Given the description of an element on the screen output the (x, y) to click on. 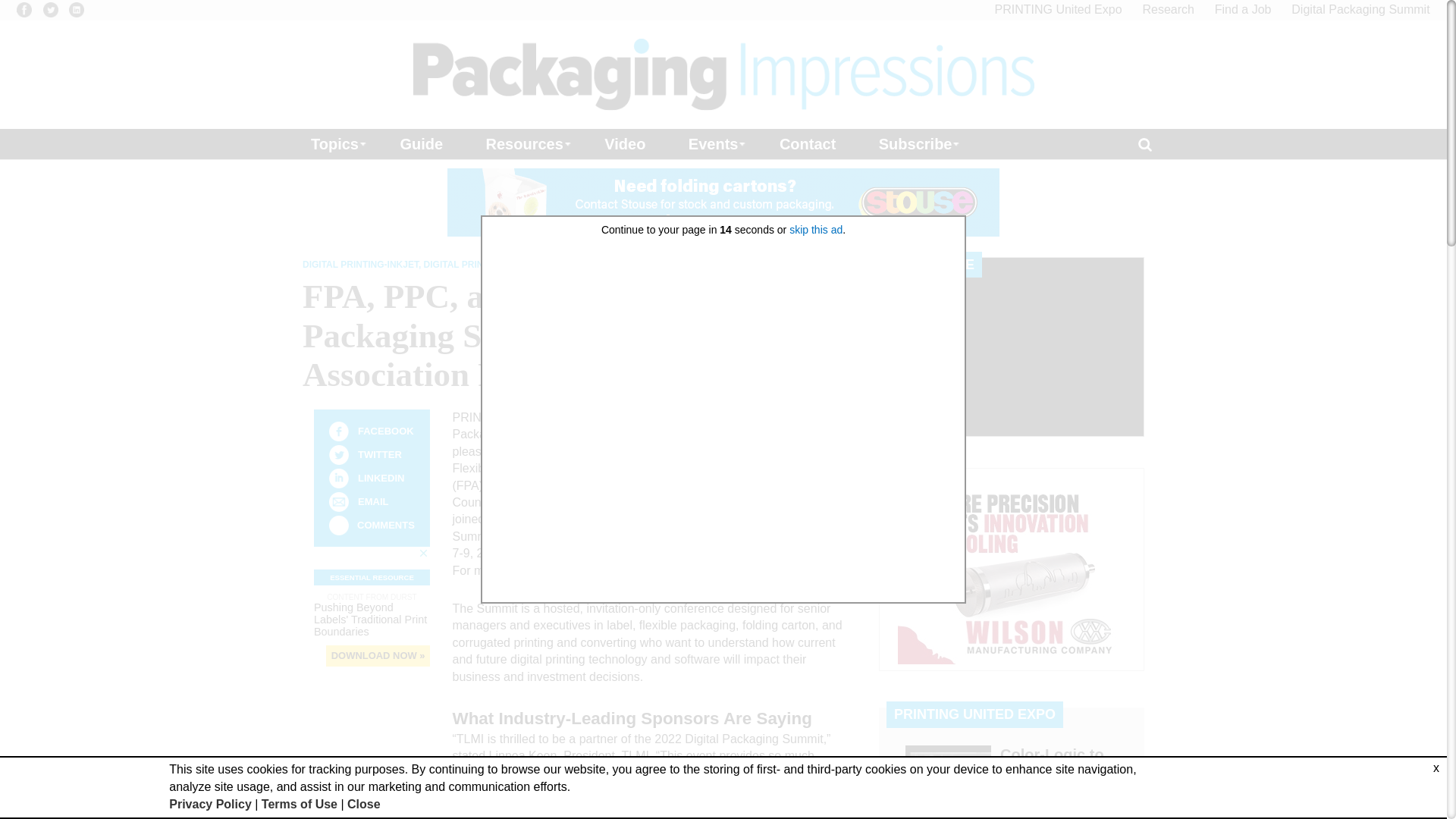
Opens in a new window (1360, 9)
Video (624, 143)
3rd party ad content (1011, 569)
Topics (333, 143)
Opens in a new window (24, 9)
Guide (420, 143)
LinkedIn (339, 478)
Research (1167, 9)
Opens in a new window (76, 9)
Email Link (339, 501)
